Given the description of an element on the screen output the (x, y) to click on. 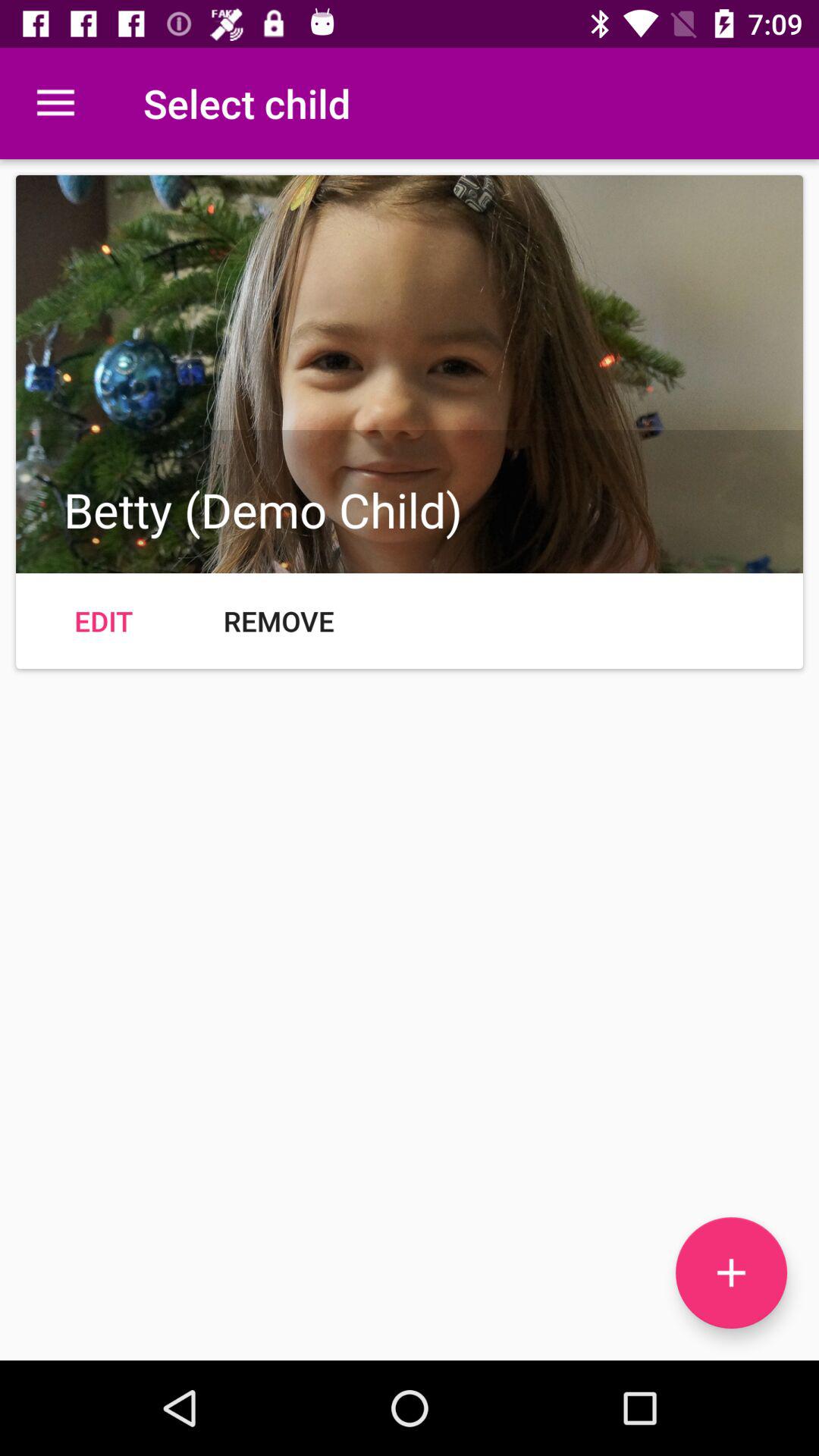
tap the item to the left of remove item (103, 620)
